Given the description of an element on the screen output the (x, y) to click on. 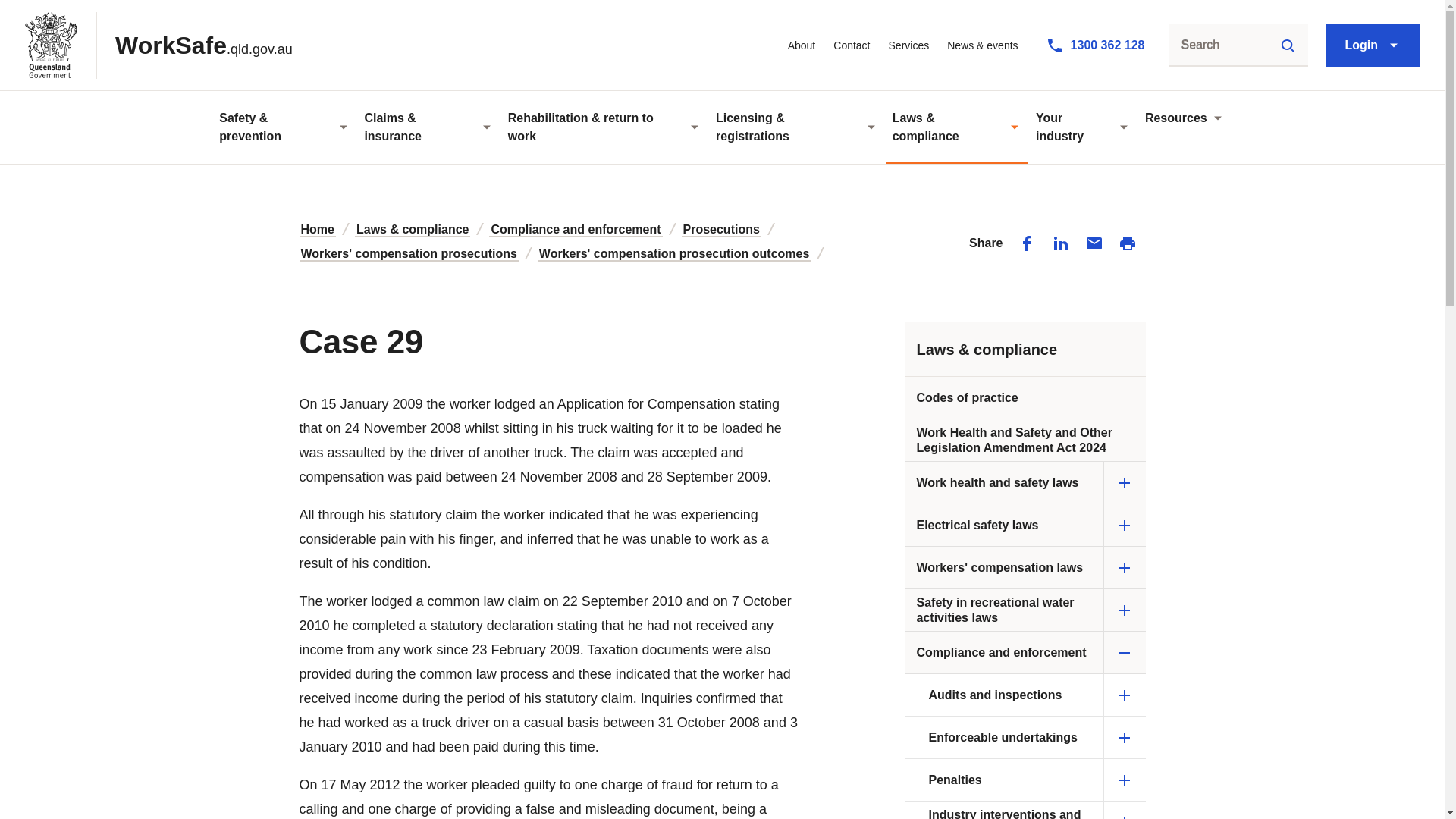
1300 362 128 (164, 45)
on (1095, 45)
on (17, 2)
on (850, 45)
Login (801, 45)
on (1373, 45)
